Given the description of an element on the screen output the (x, y) to click on. 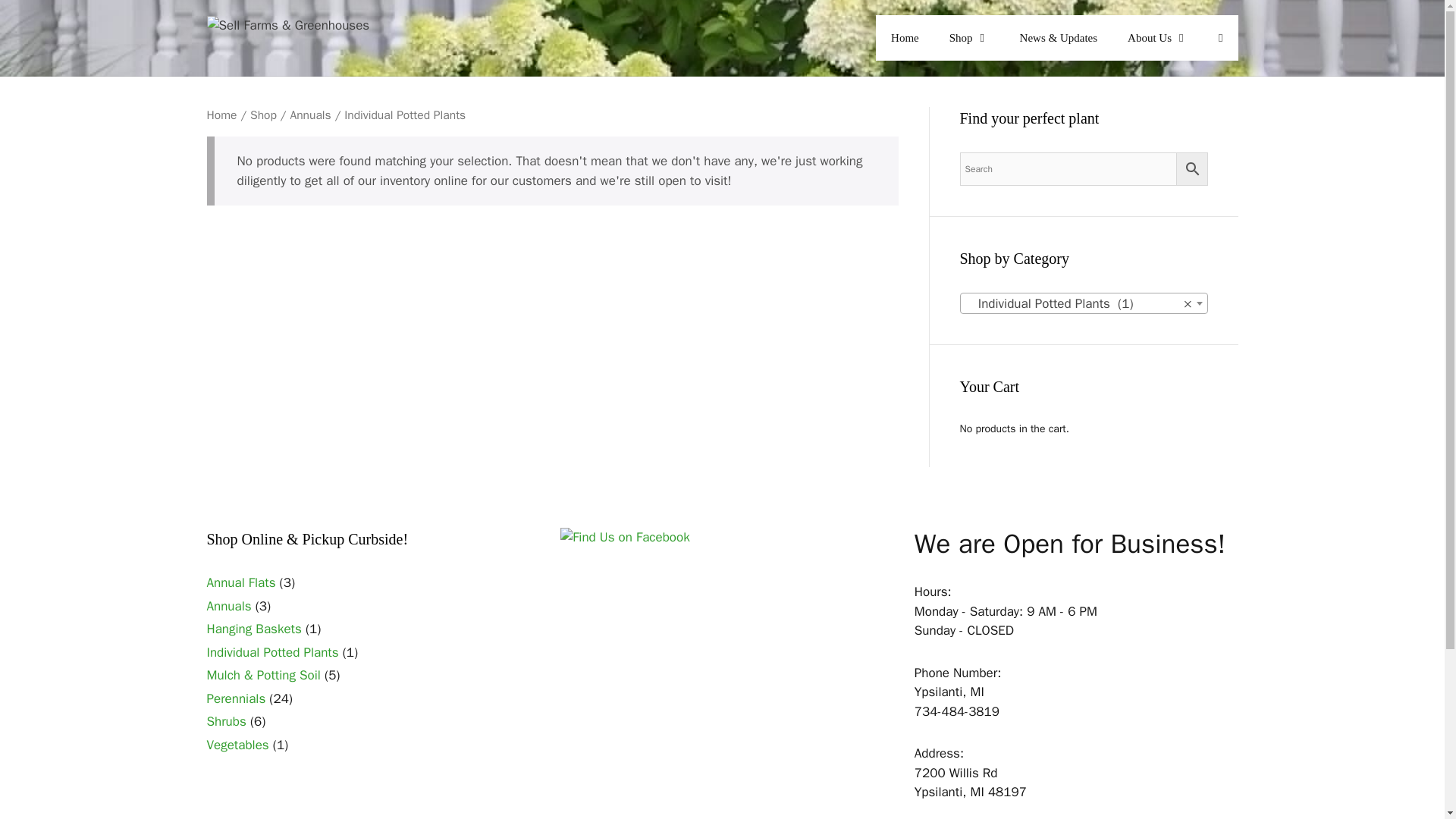
About Us (1158, 37)
Home (905, 37)
Shop (969, 37)
